Given the description of an element on the screen output the (x, y) to click on. 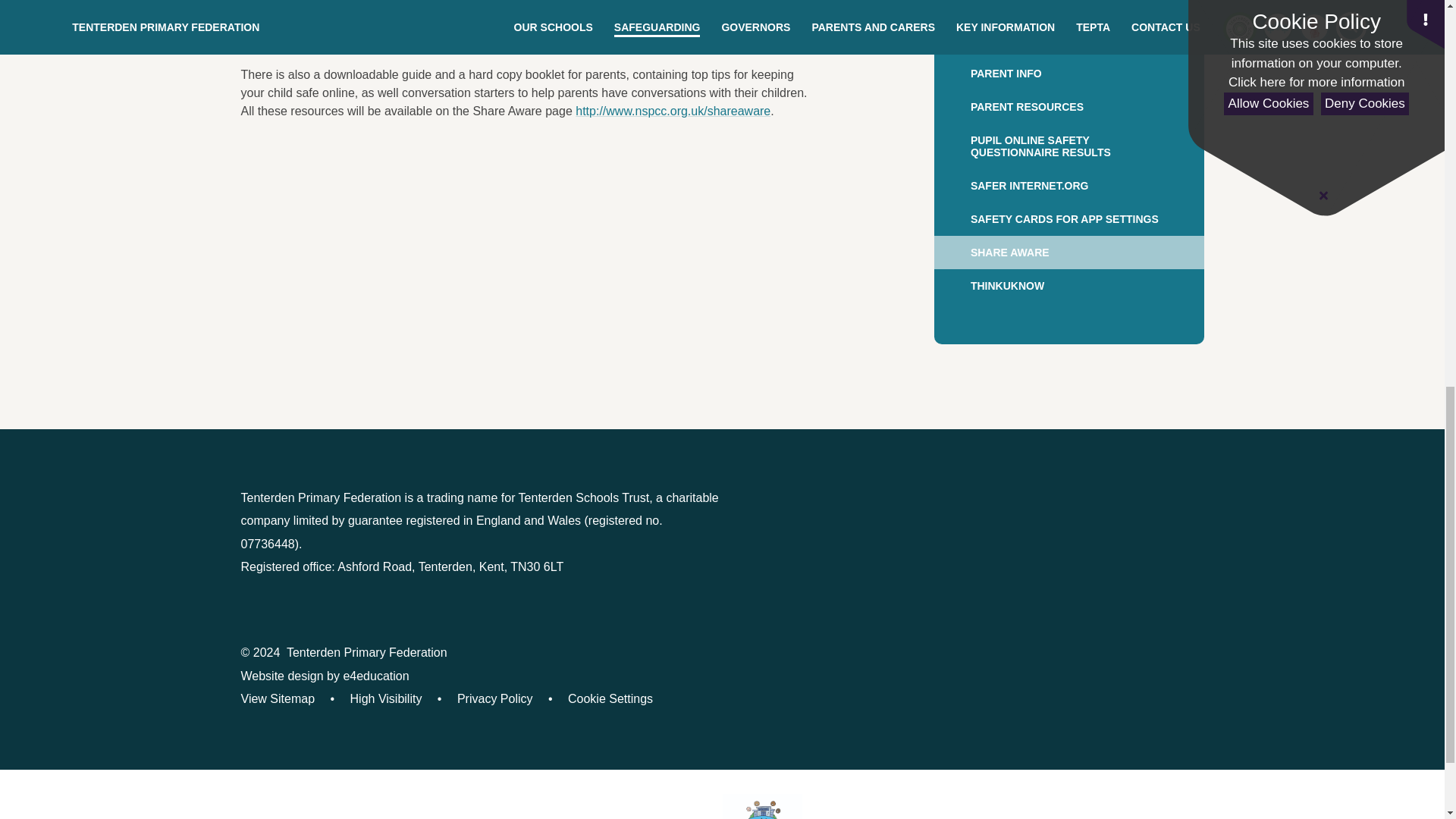
Cookie Settings (609, 698)
